Given the description of an element on the screen output the (x, y) to click on. 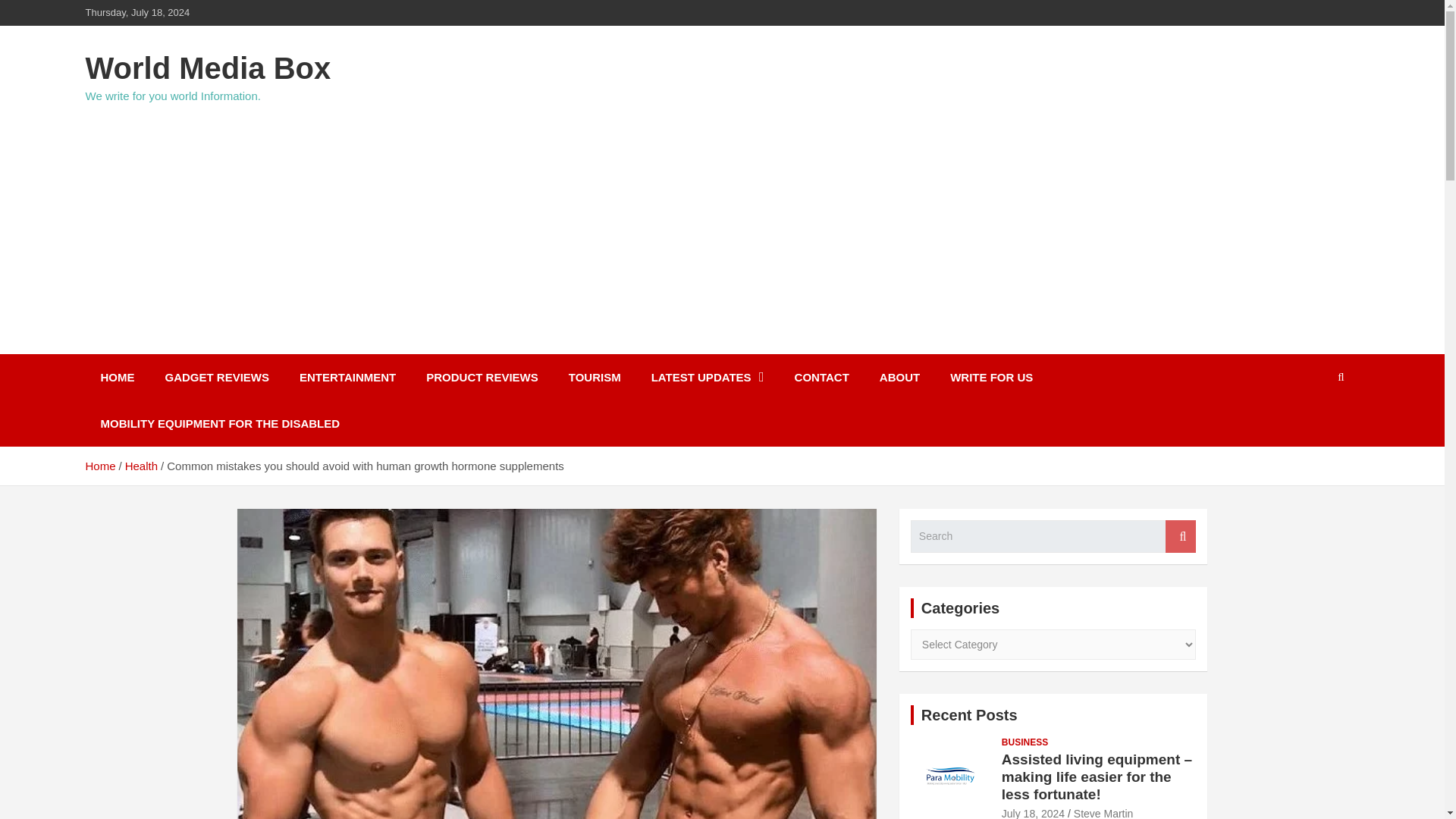
ABOUT (899, 376)
CONTACT (821, 376)
PRODUCT REVIEWS (481, 376)
GADGET REVIEWS (217, 376)
Home (99, 465)
World Media Box (207, 68)
Search (1180, 536)
HOME (116, 376)
TOURISM (594, 376)
MOBILITY EQUIPMENT FOR THE DISABLED (219, 423)
ENTERTAINMENT (346, 376)
Health (141, 465)
LATEST UPDATES (707, 376)
WRITE FOR US (991, 376)
